Given the description of an element on the screen output the (x, y) to click on. 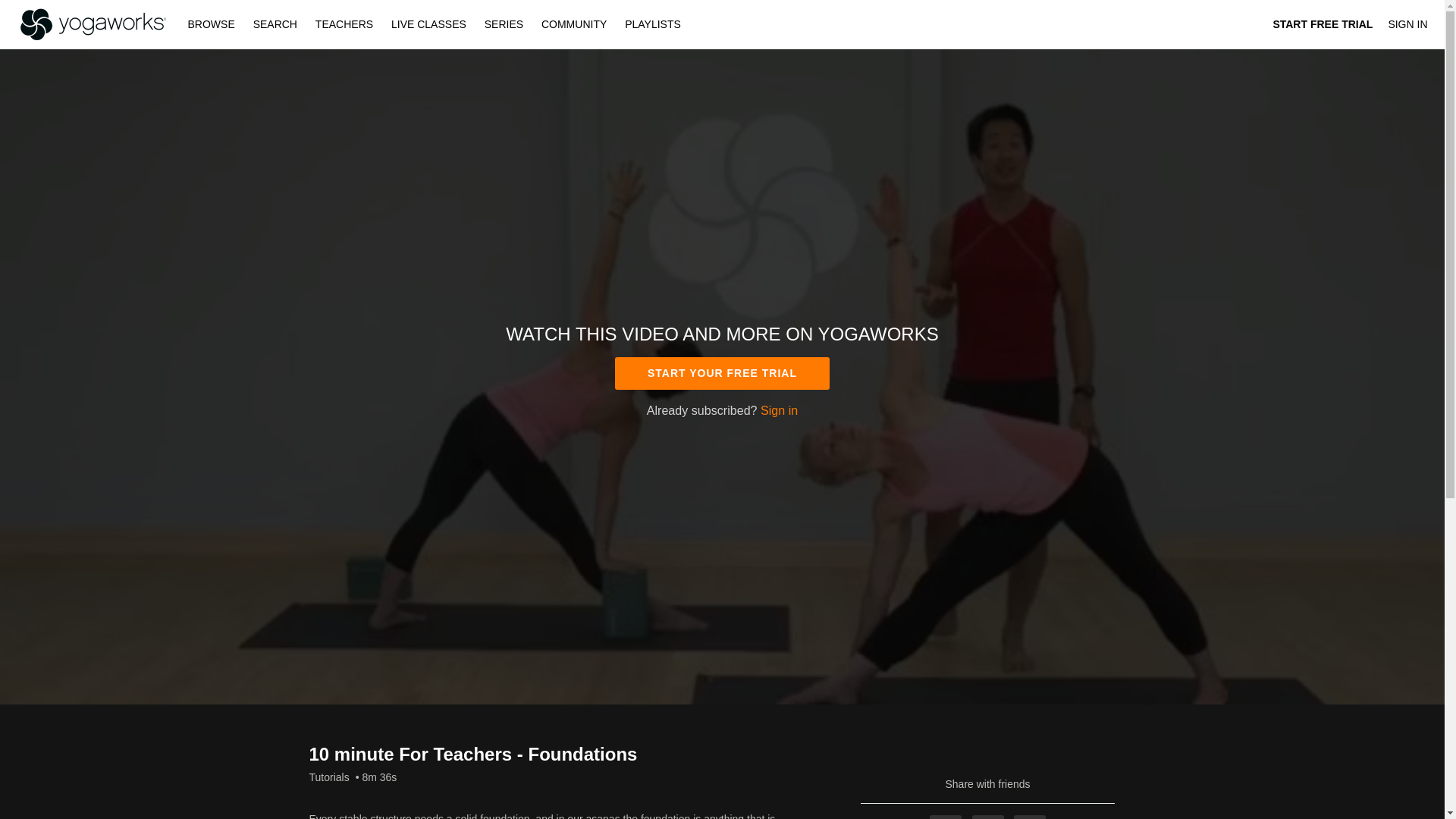
COMMUNITY (574, 24)
PLAYLISTS (652, 24)
SIGN IN (1406, 24)
Tutorials (328, 776)
BROWSE (213, 24)
Twitter (988, 816)
SERIES (504, 24)
SEARCH (276, 24)
START FREE TRIAL (1322, 24)
Skip to main content (48, 7)
Email (1029, 816)
LIVE CLASSES (429, 24)
TEACHERS (343, 24)
START YOUR FREE TRIAL (721, 373)
Sign in (778, 409)
